Given the description of an element on the screen output the (x, y) to click on. 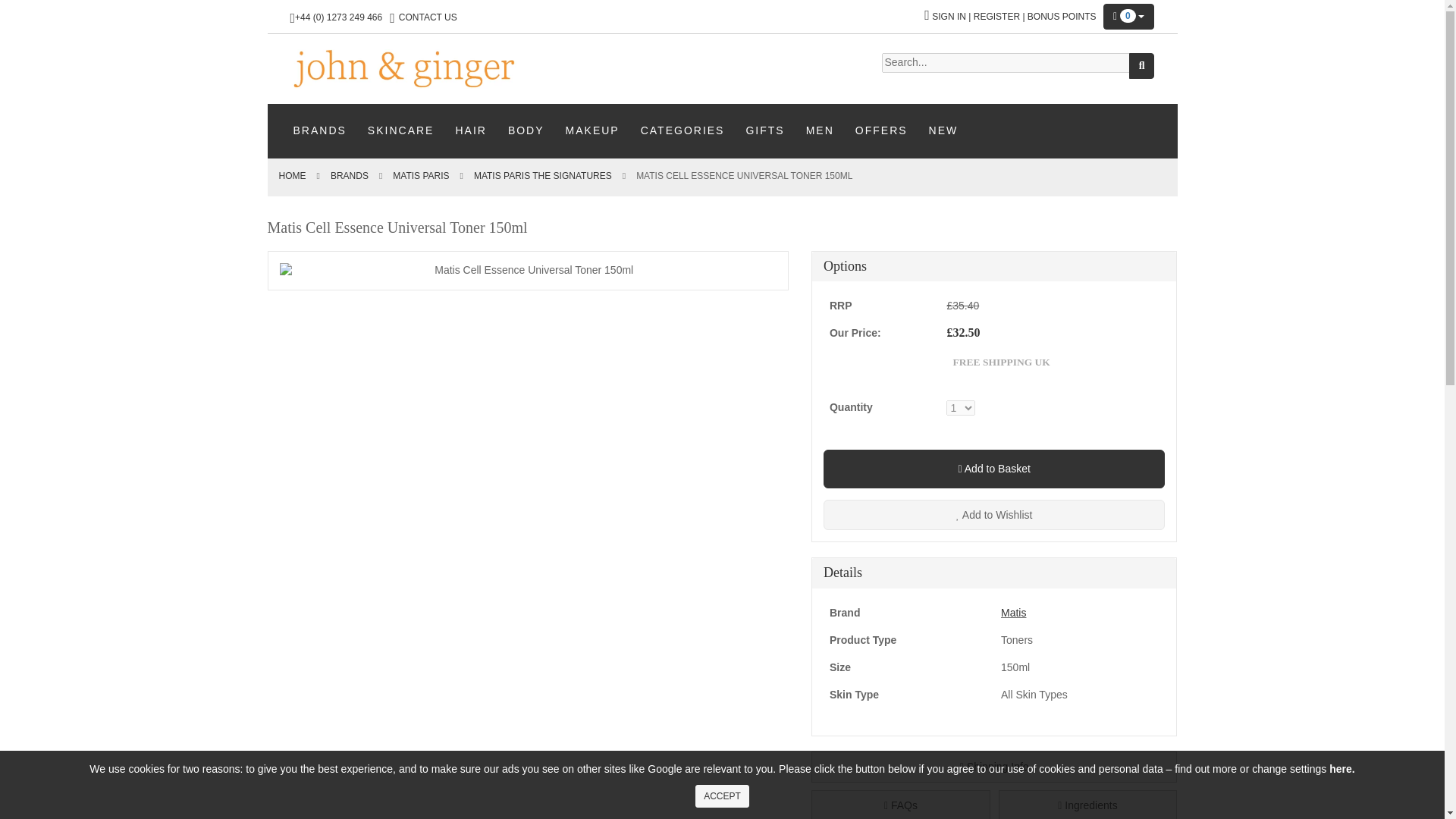
See all Matis products (1013, 612)
HAIR (470, 130)
ACCEPT (722, 795)
Ingredients (1087, 804)
Home (292, 175)
CATEGORIES (682, 130)
BRANDS (319, 130)
MATIS PARIS (420, 175)
FAQs (900, 804)
BODY (525, 130)
